Given the description of an element on the screen output the (x, y) to click on. 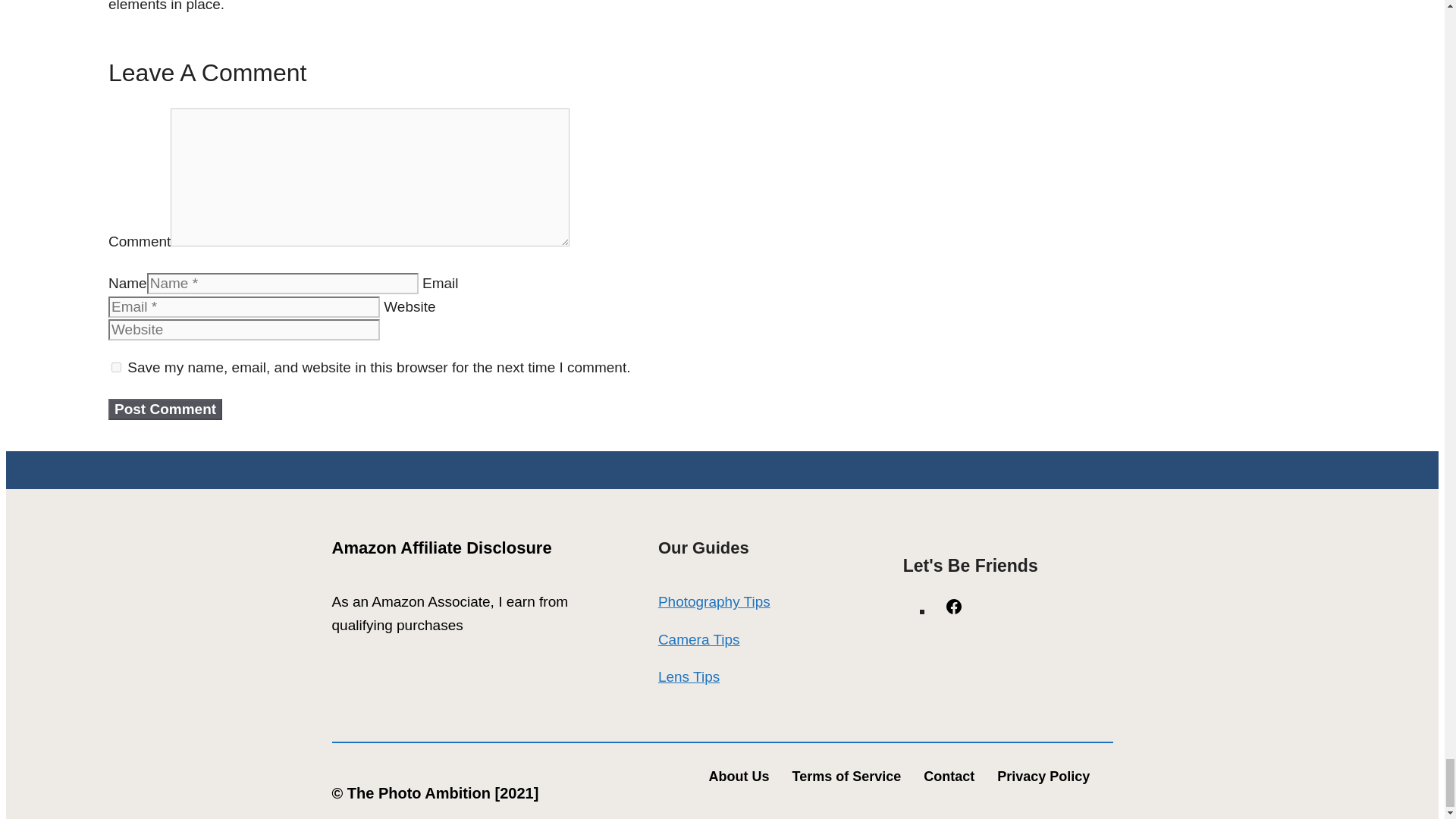
yes (116, 367)
Photography Tips (714, 601)
Camera Tips (698, 639)
Post Comment (164, 409)
Post Comment (164, 409)
